Given the description of an element on the screen output the (x, y) to click on. 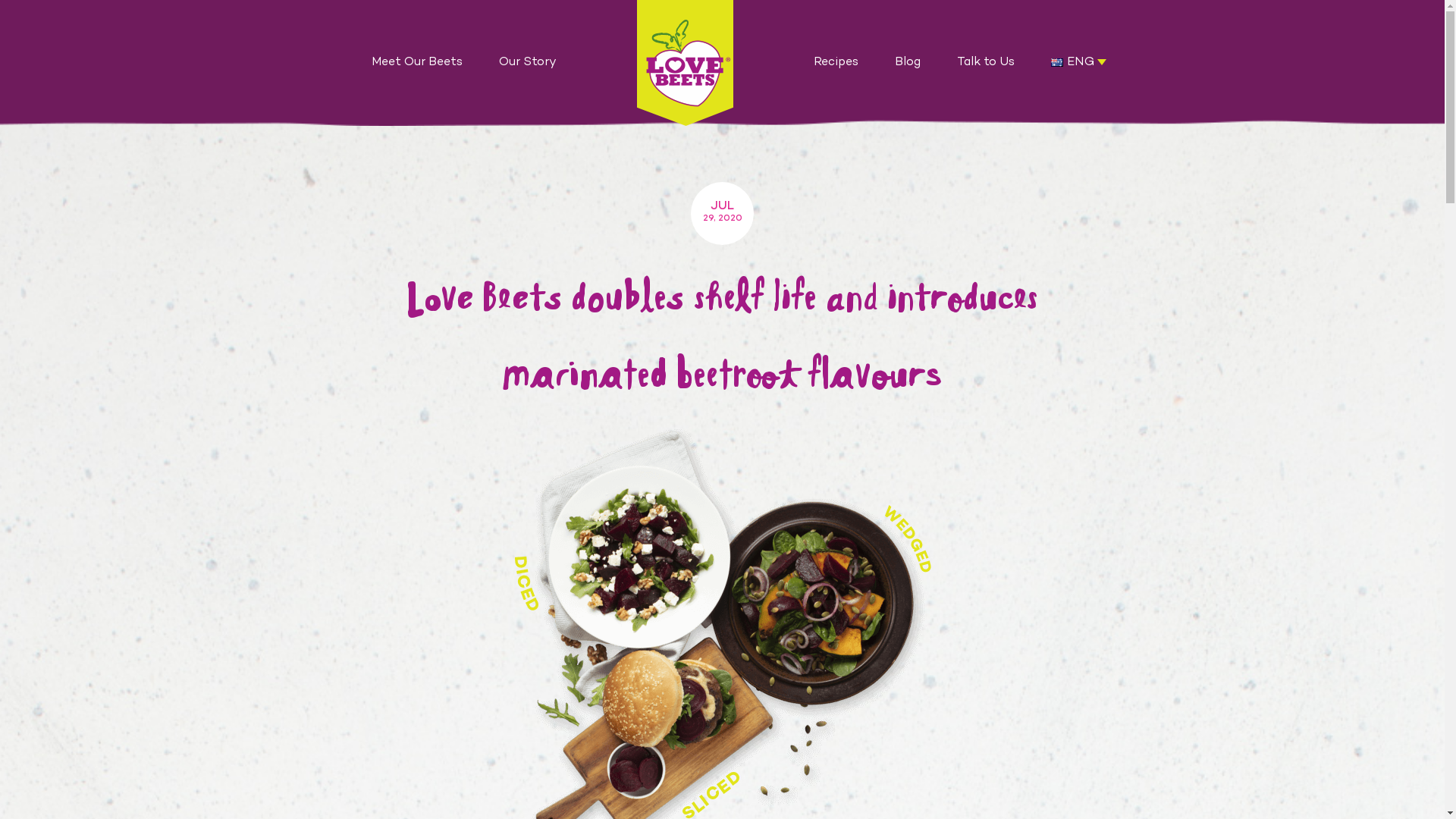
ENG Element type: text (1078, 62)
Our Story Element type: text (527, 62)
Meet Our Beets Element type: text (416, 62)
Recipes Element type: text (836, 62)
Blog Element type: text (907, 62)
Home Element type: text (685, 62)
Talk to Us Element type: text (985, 62)
ENG Element type: hover (1057, 62)
